Given the description of an element on the screen output the (x, y) to click on. 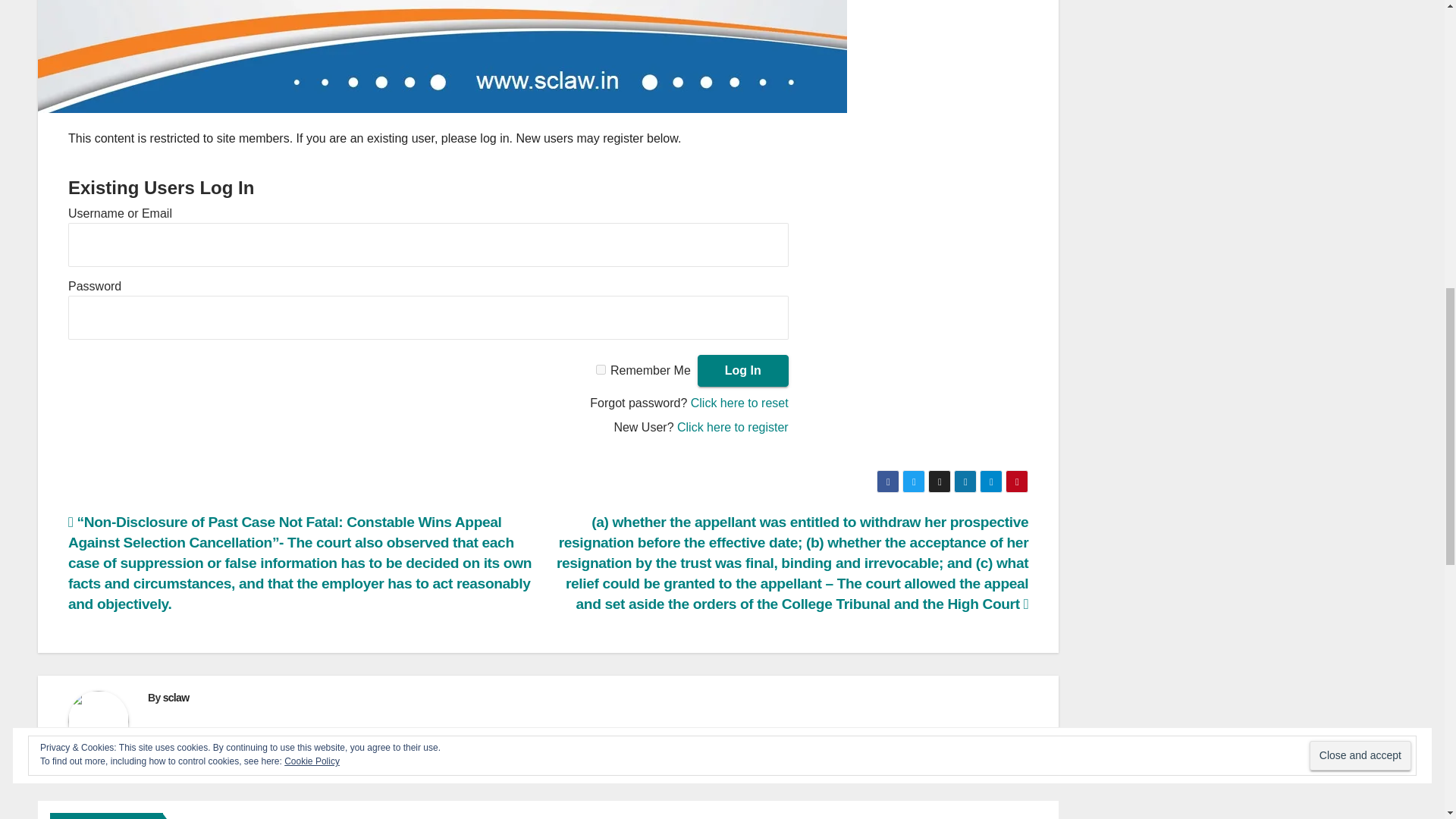
Click here to register (733, 427)
Click here to reset (739, 402)
forever (600, 369)
Log In (743, 370)
Log In (743, 370)
sclaw (176, 697)
